Given the description of an element on the screen output the (x, y) to click on. 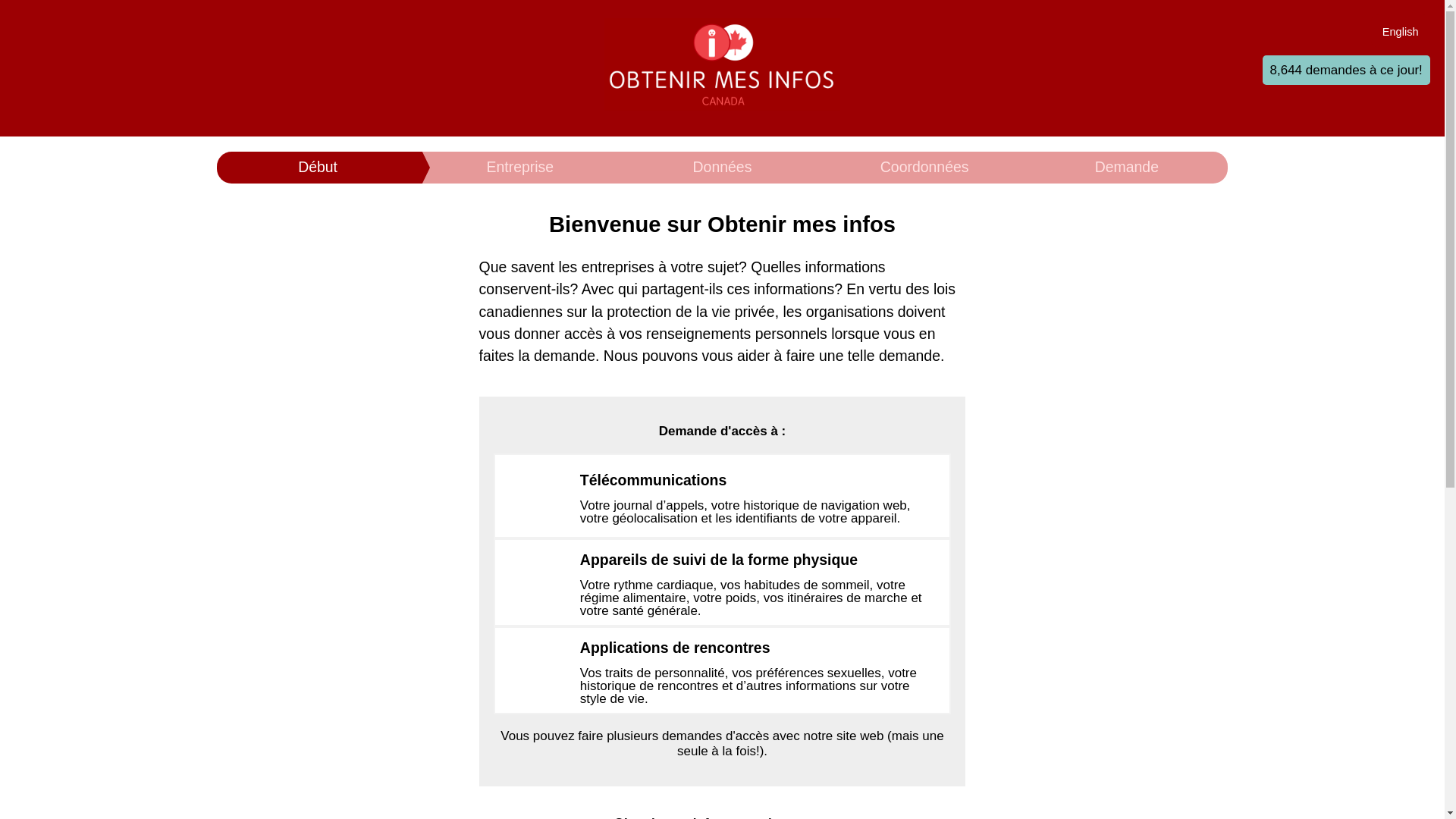
Demande Element type: text (1126, 167)
English Element type: text (1400, 30)
Entreprise Element type: text (519, 167)
